Given the description of an element on the screen output the (x, y) to click on. 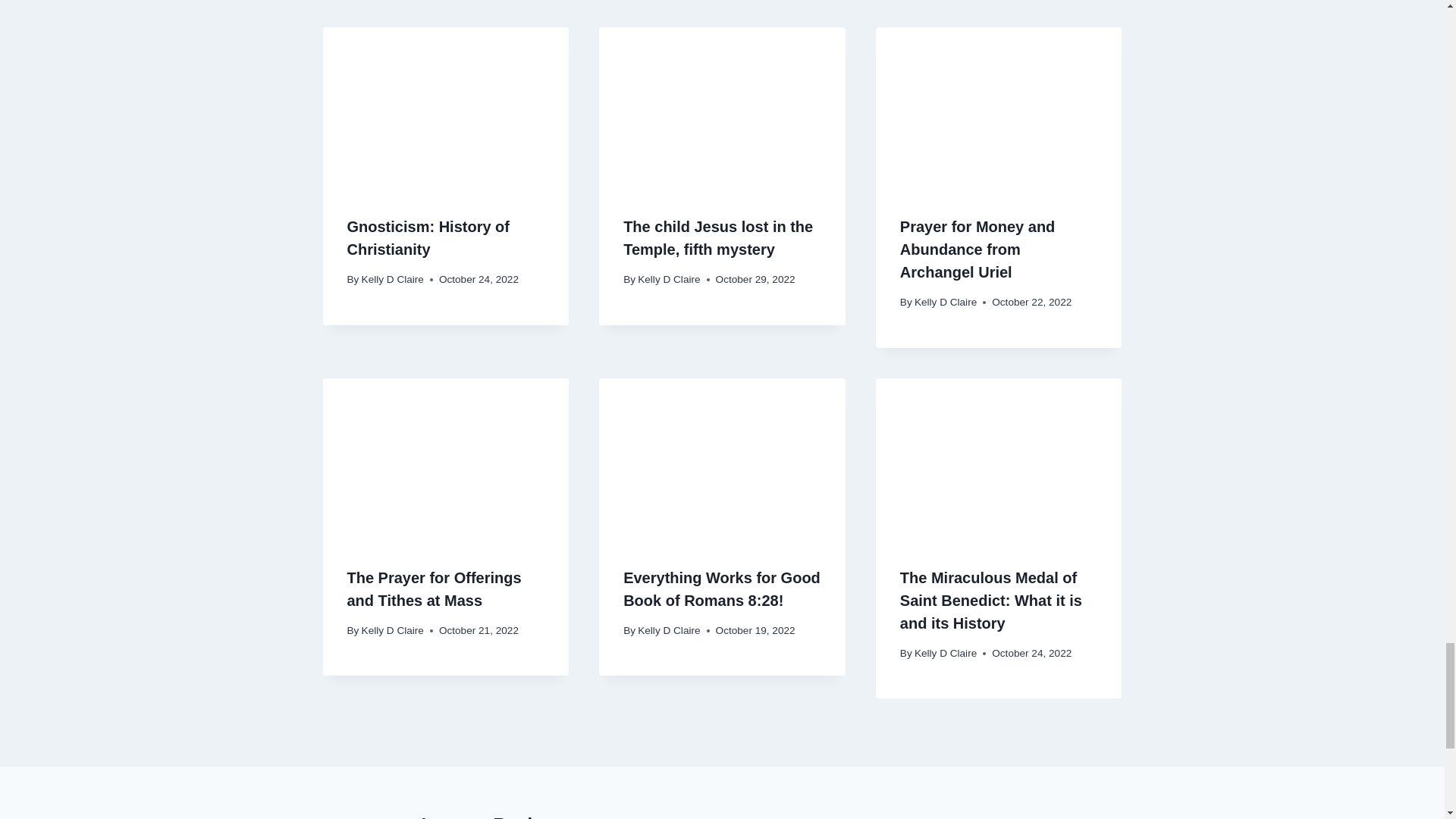
Gnosticism: History of Christianity (428, 237)
The Prayer for Offerings and Tithes at Mass (434, 589)
Kelly D Claire (668, 279)
Kelly D Claire (945, 301)
The child Jesus lost in the Temple, fifth mystery (717, 237)
Kelly D Claire (392, 279)
Kelly D Claire (668, 630)
Prayer for Money and Abundance from Archangel Uriel (977, 249)
Everything Works for Good Book of Romans 8:28! (722, 589)
Kelly D Claire (392, 630)
